Given the description of an element on the screen output the (x, y) to click on. 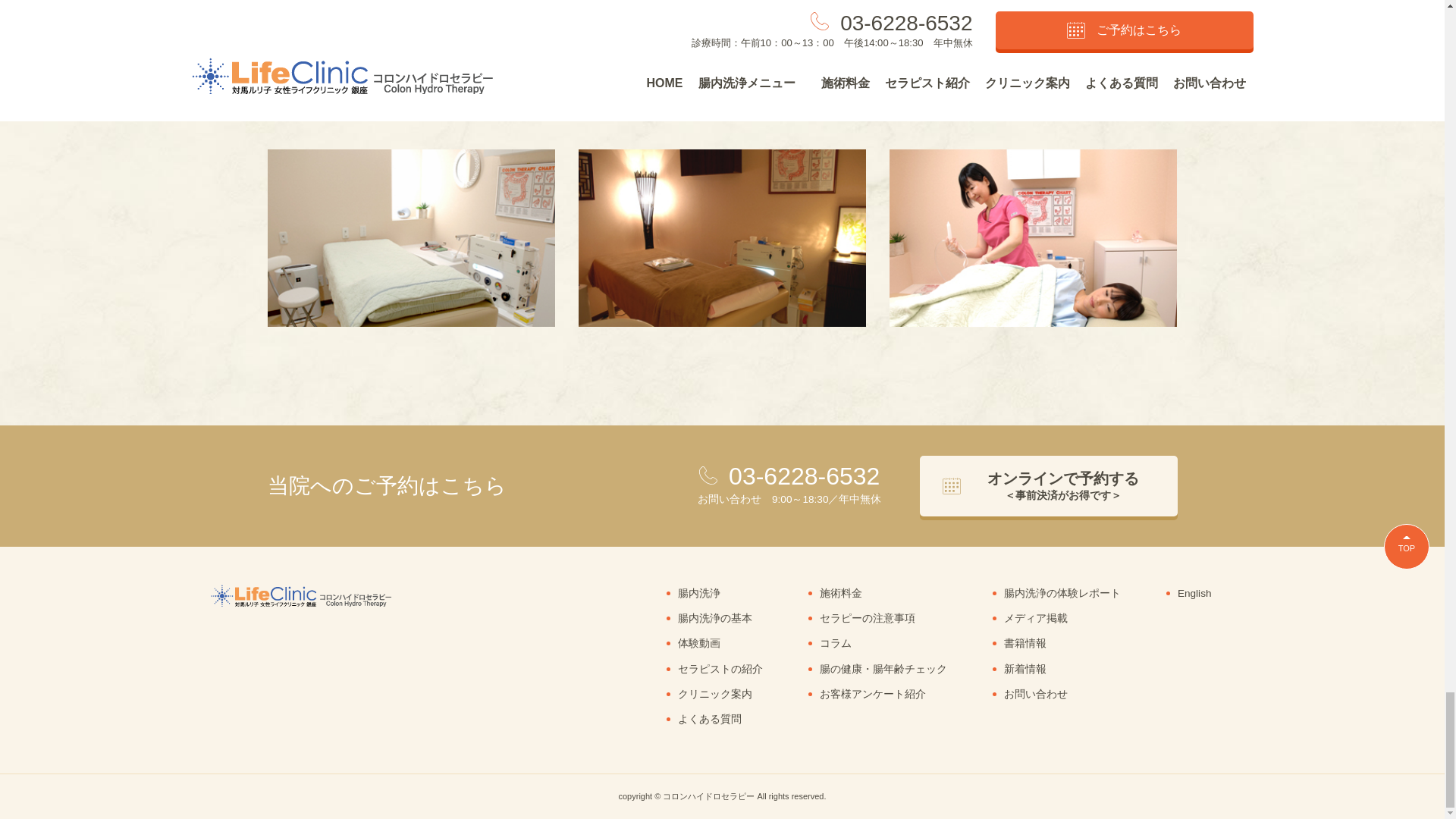
TOP (1406, 546)
03-6228-6532 (804, 475)
